Given the description of an element on the screen output the (x, y) to click on. 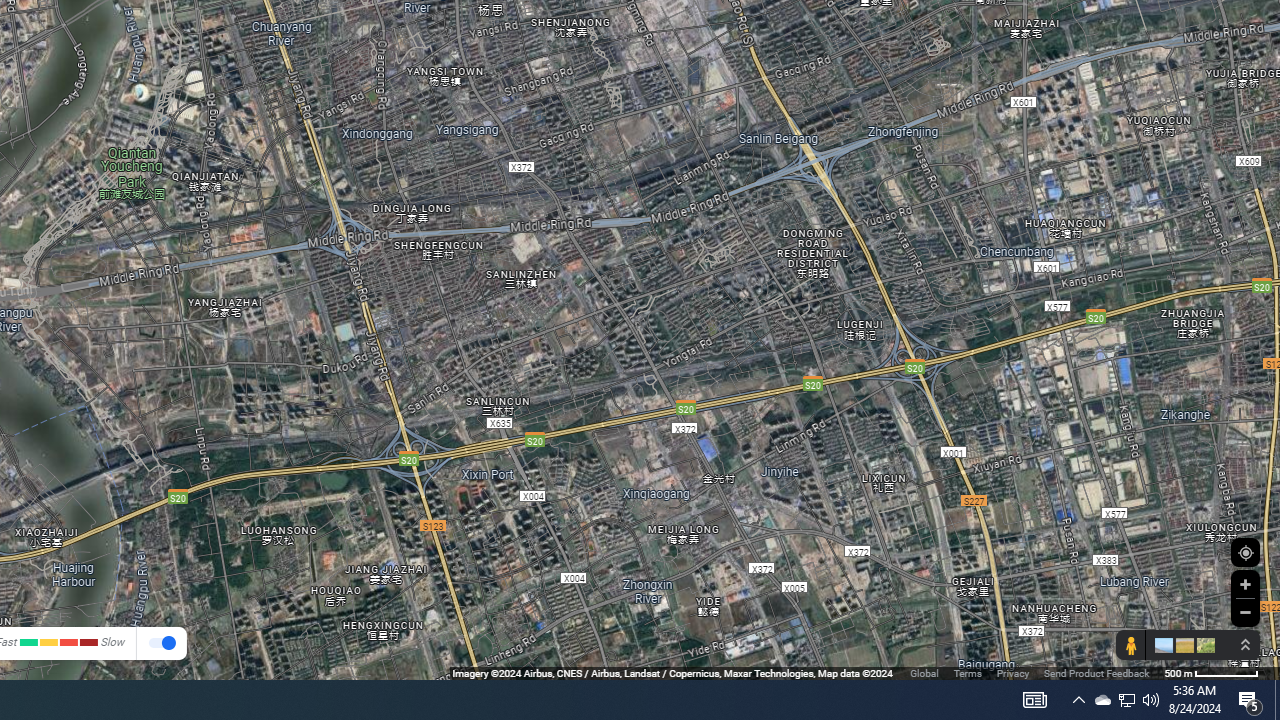
Global (924, 672)
Send Product Feedback (1096, 672)
Zoom in (1245, 584)
Show Street View coverage (1130, 645)
Zoom out (1245, 612)
Show Your Location (1245, 552)
Show imagery (1202, 645)
 Show traffic  (162, 643)
500 m (1211, 672)
